Given the description of an element on the screen output the (x, y) to click on. 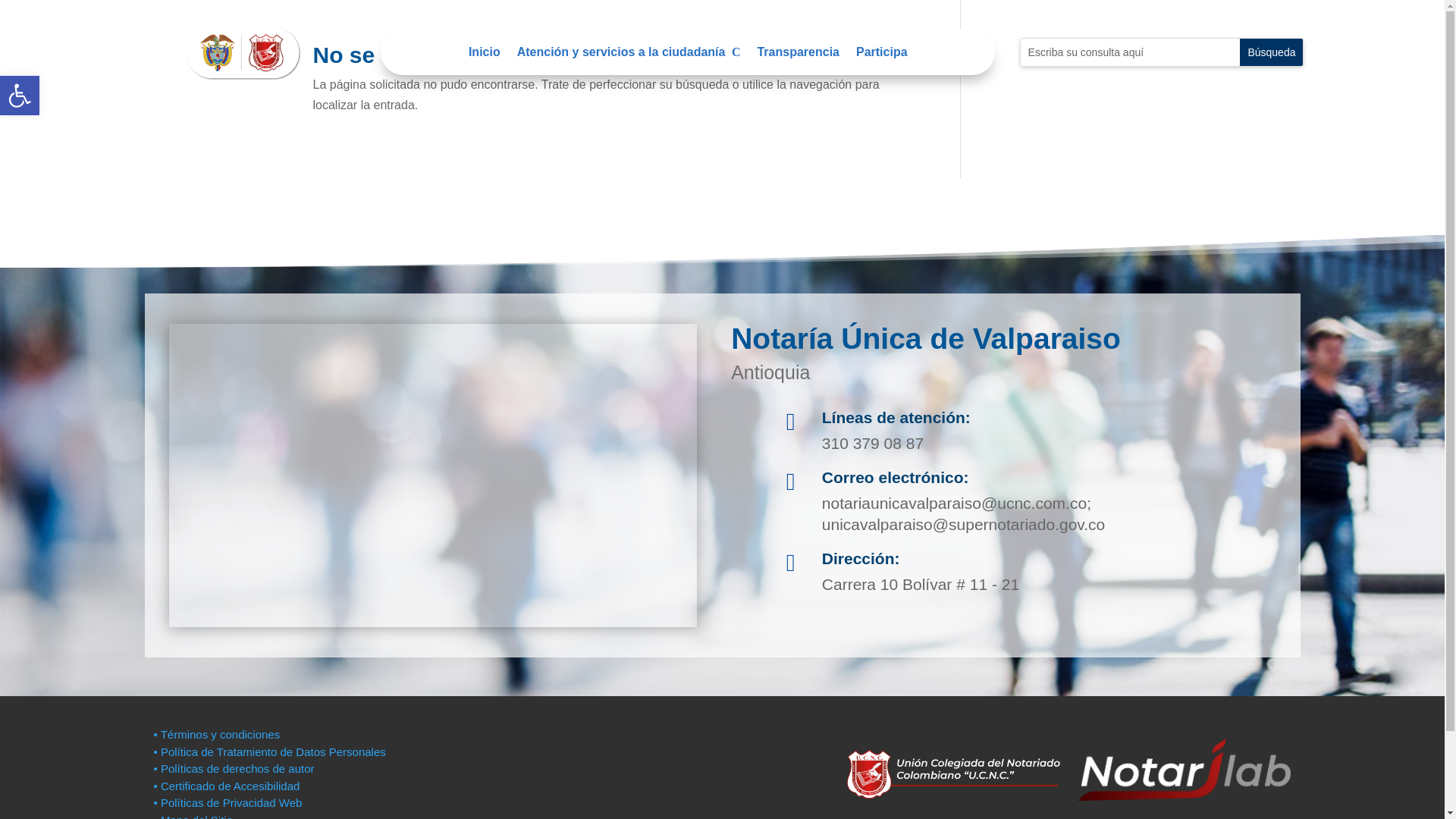
Herramientas de accesibilidad (19, 95)
Paginas-web-notarias (242, 51)
Mapa del Sitio (193, 816)
Herramientas de accesibilidad (19, 95)
Transparencia (798, 54)
Certificado de Accesibilidad (225, 785)
Inicio (19, 95)
Participa (484, 54)
